Given the description of an element on the screen output the (x, y) to click on. 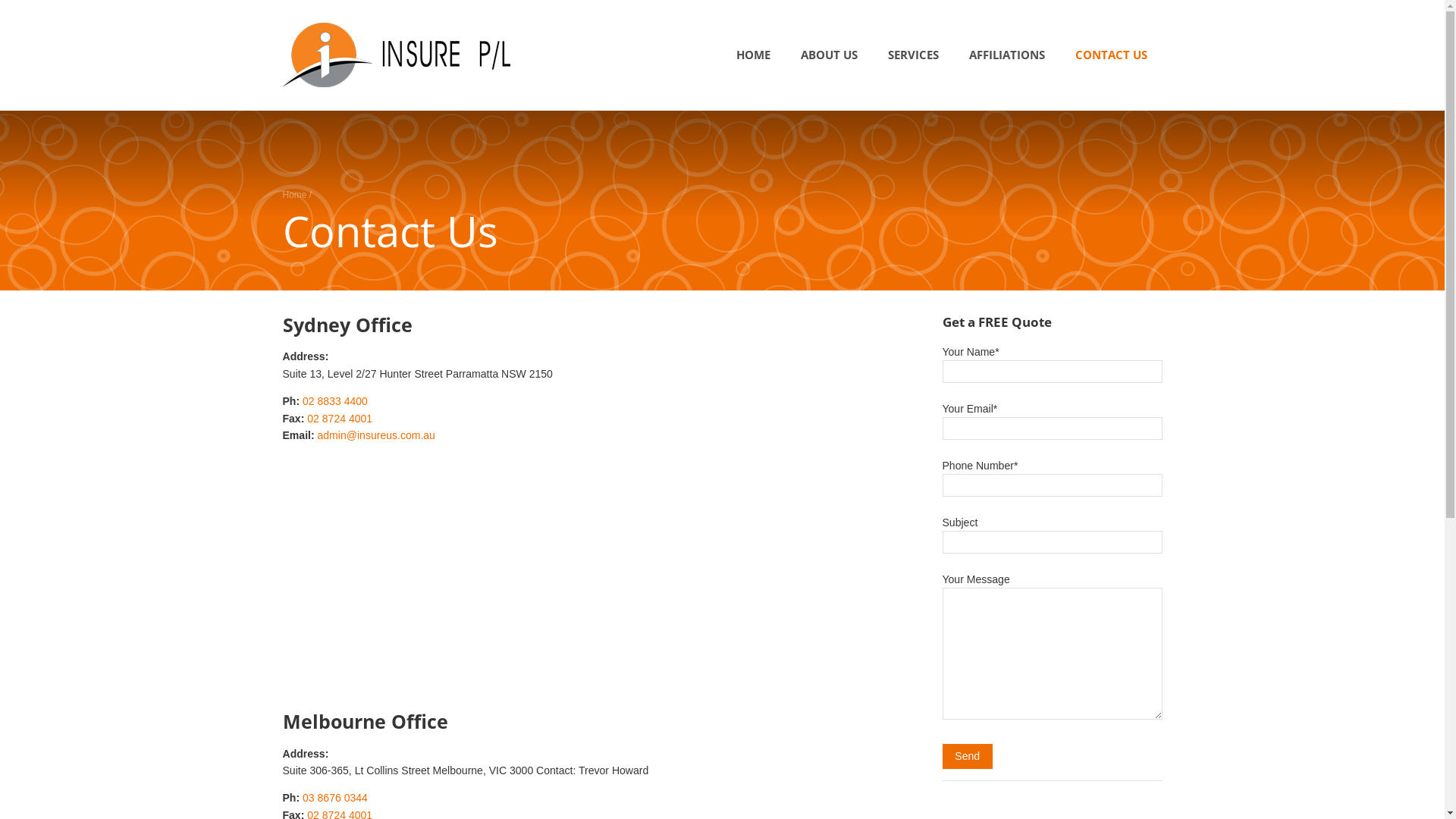
HOME Element type: text (752, 54)
admin@insureus.com.au Element type: text (376, 435)
SERVICES Element type: text (912, 54)
AFFILIATIONS Element type: text (1006, 54)
CONTACT US Element type: text (1111, 54)
02 8833 4400 Element type: text (334, 401)
ABOUT US Element type: text (828, 54)
Home Element type: text (294, 194)
02 8724 4001 Element type: text (339, 418)
03 8676 0344 Element type: text (334, 797)
Send Element type: text (966, 755)
